Given the description of an element on the screen output the (x, y) to click on. 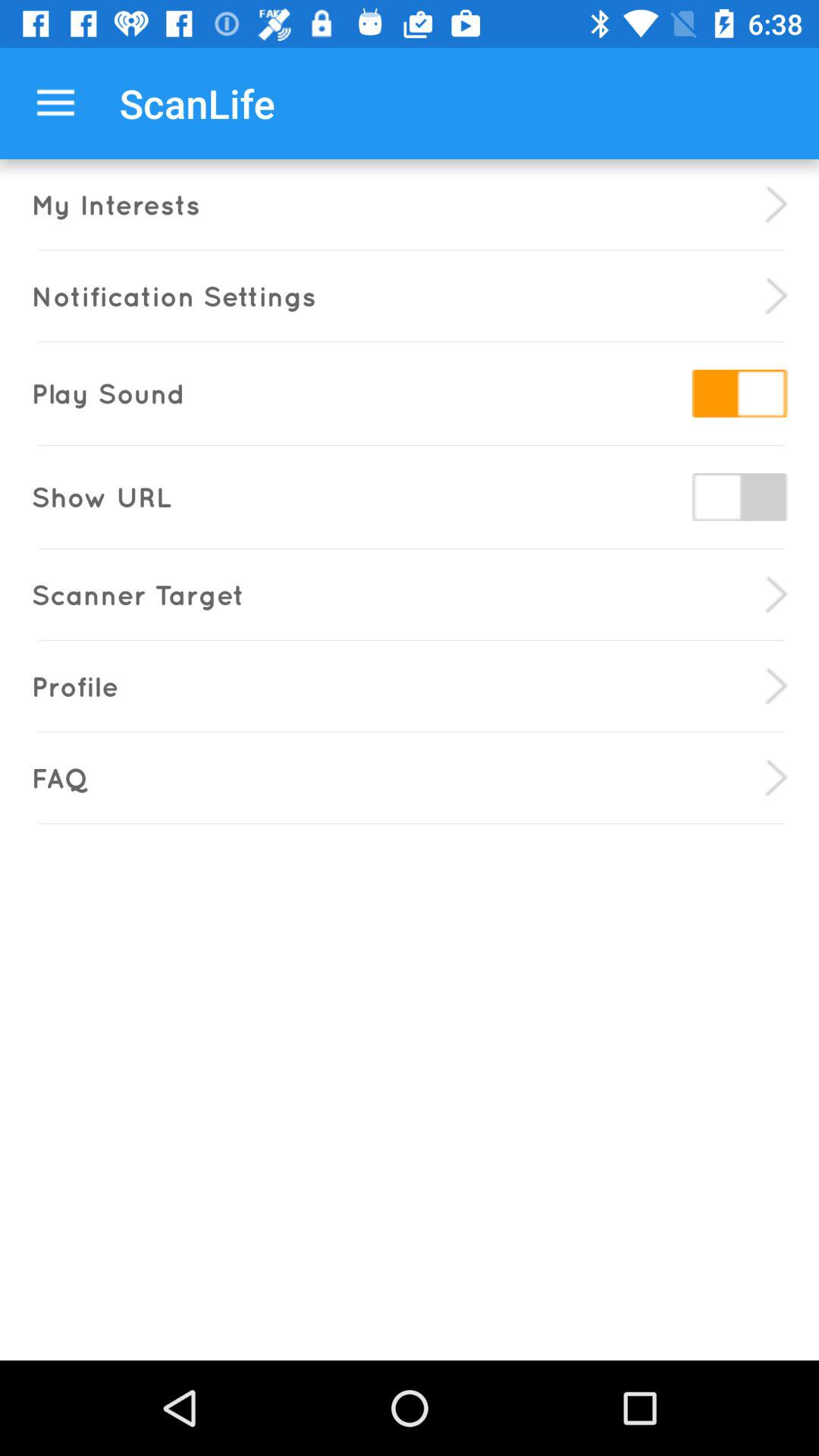
play sound on/off (739, 393)
